Given the description of an element on the screen output the (x, y) to click on. 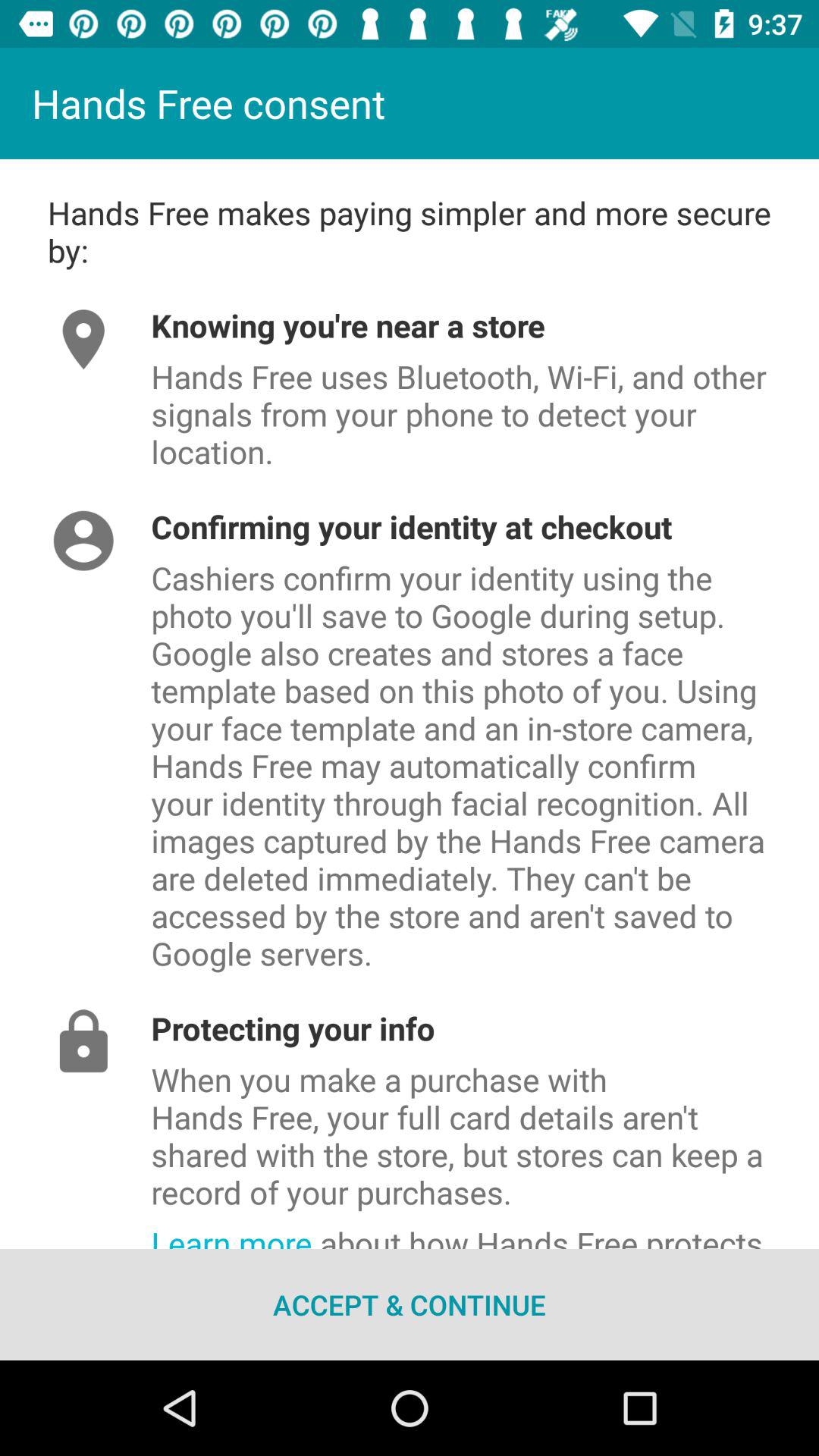
turn on the item above the accept & continue icon (485, 1230)
